Given the description of an element on the screen output the (x, y) to click on. 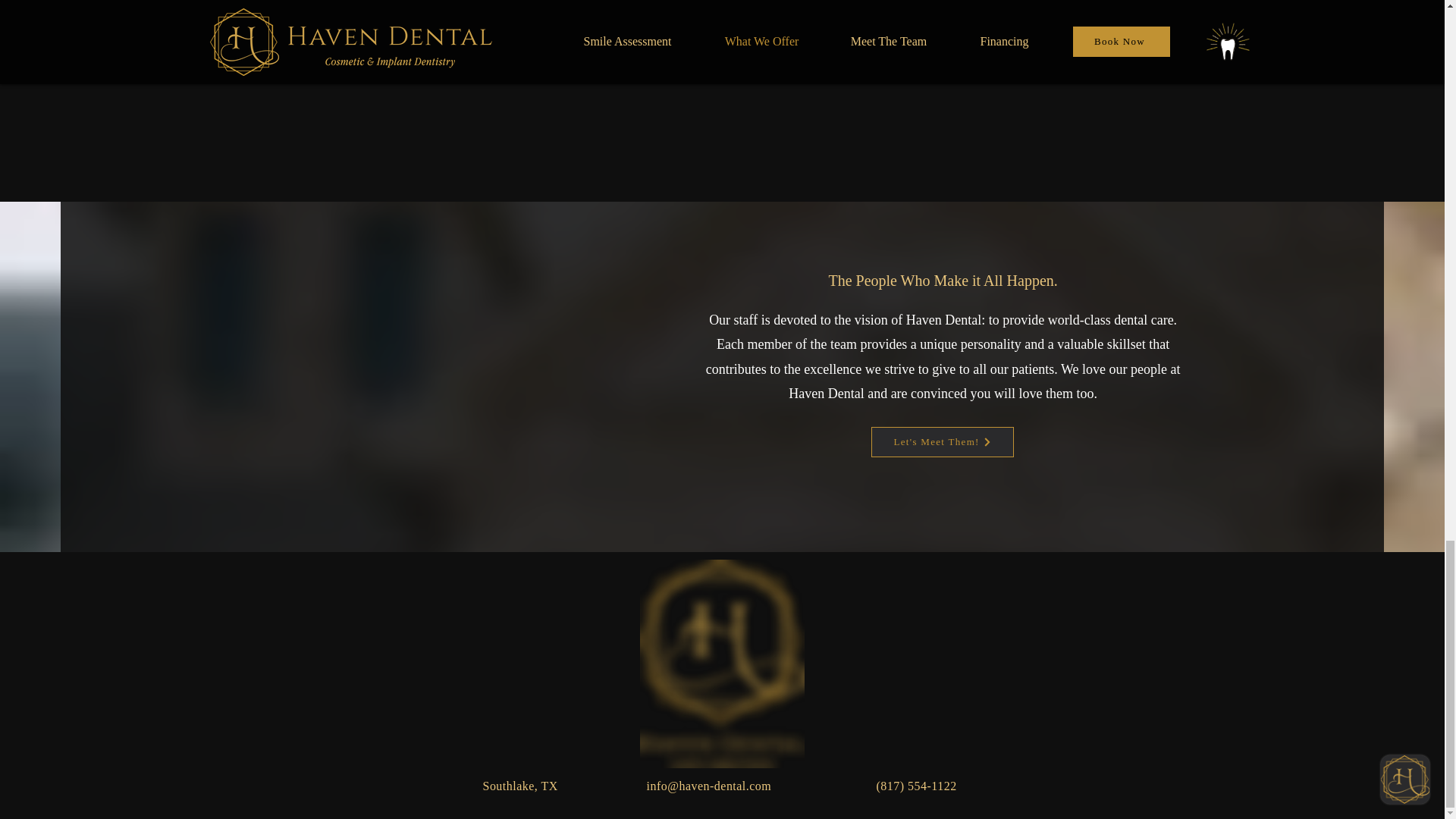
Let's Meet Them! (941, 441)
